Given the description of an element on the screen output the (x, y) to click on. 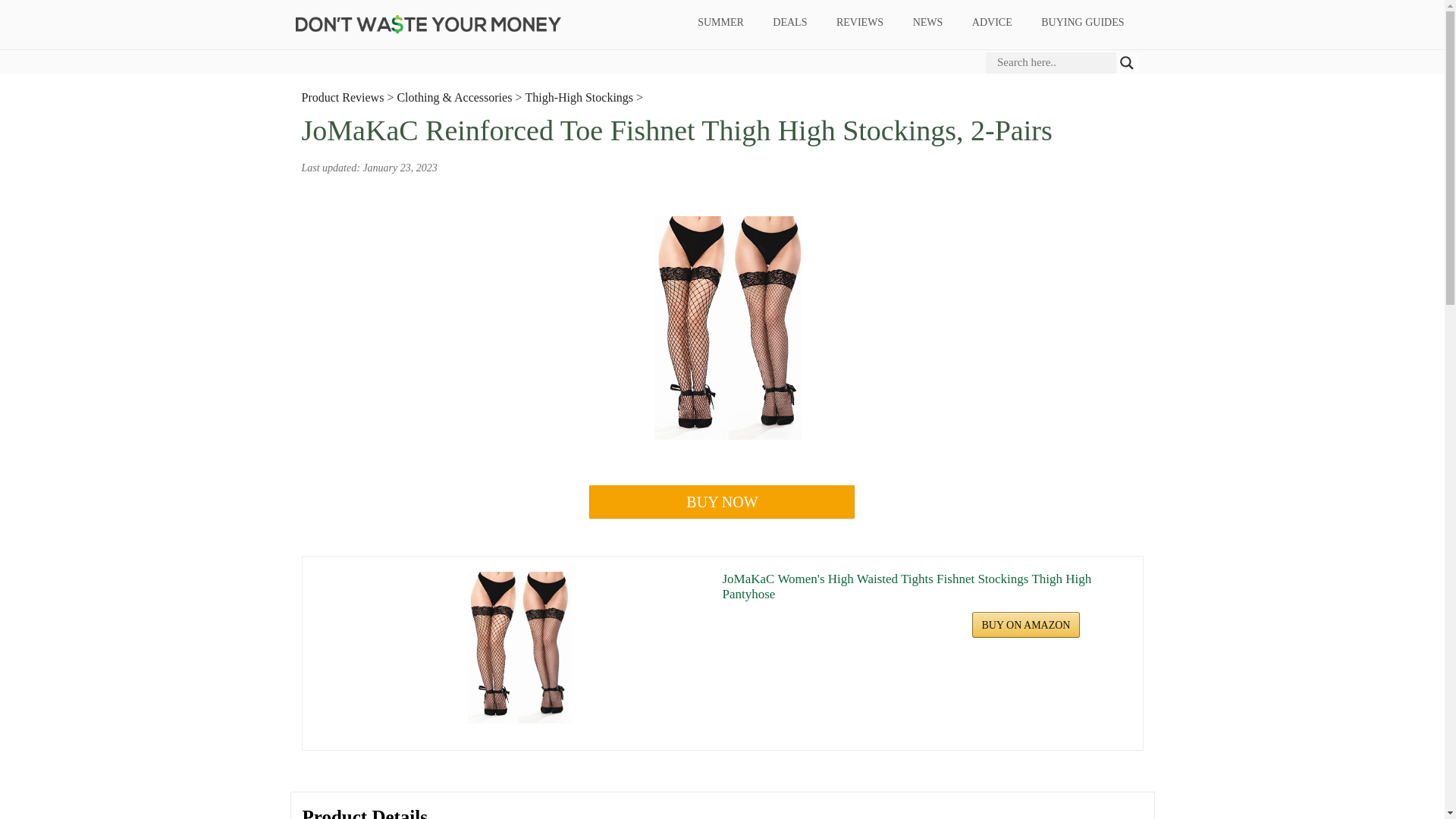
DEALS (790, 22)
Product Reviews (342, 97)
SUMMER (720, 22)
BUY ON AMAZON (1026, 624)
BUYING GUIDES (1082, 22)
BUY NOW (721, 501)
Thigh-High Stockings (578, 97)
NEWS (927, 22)
ADVICE (991, 22)
BUY ON AMAZON (1026, 624)
REVIEWS (859, 22)
